Given the description of an element on the screen output the (x, y) to click on. 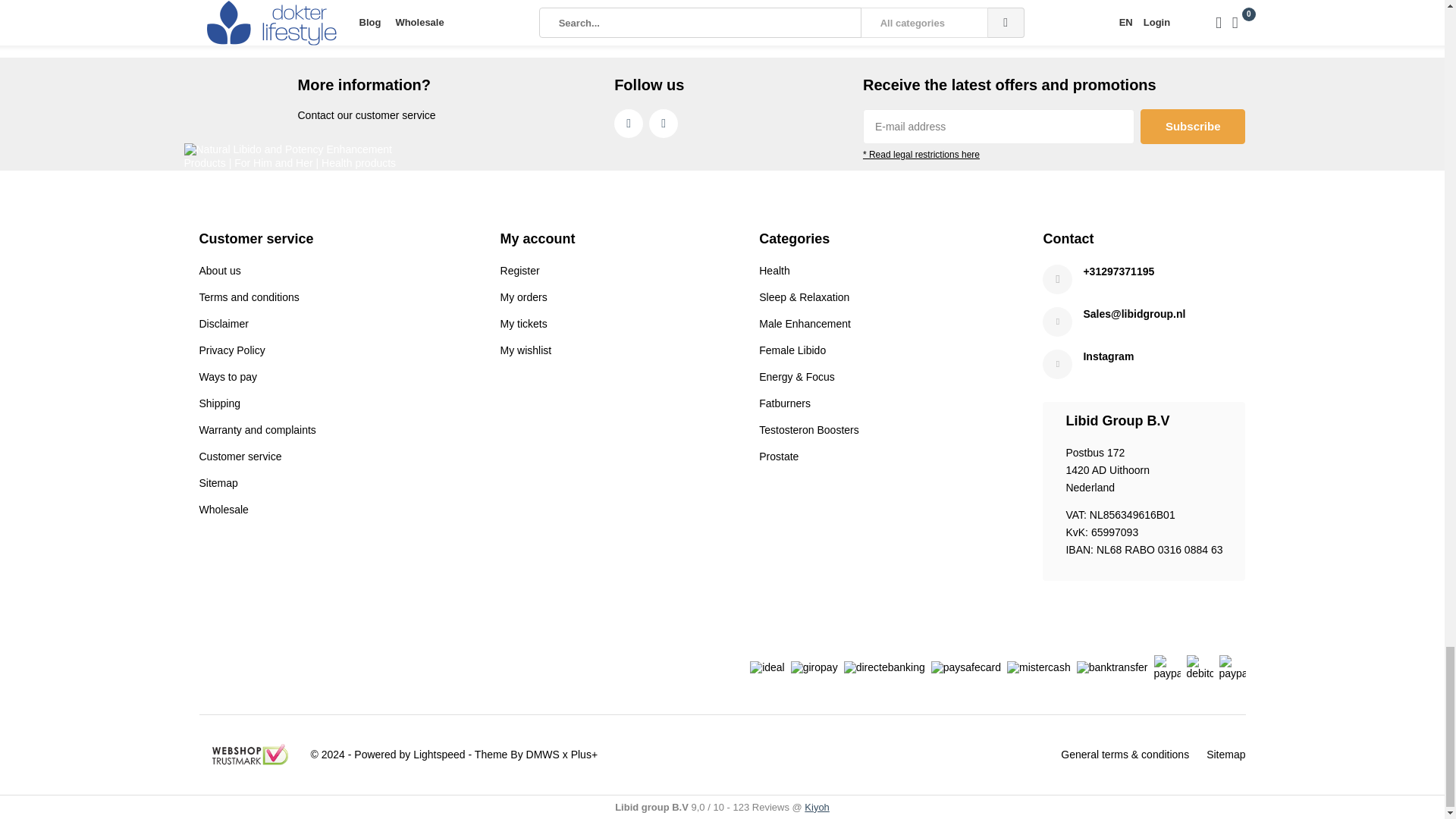
Privacy Policy (231, 349)
Terms and conditions (248, 297)
Ways to pay (227, 377)
Register (520, 270)
Warranty and complaints (256, 429)
About us (219, 270)
Customer service (239, 456)
Wholesale (222, 509)
Sitemap (217, 482)
My orders (523, 297)
